Given the description of an element on the screen output the (x, y) to click on. 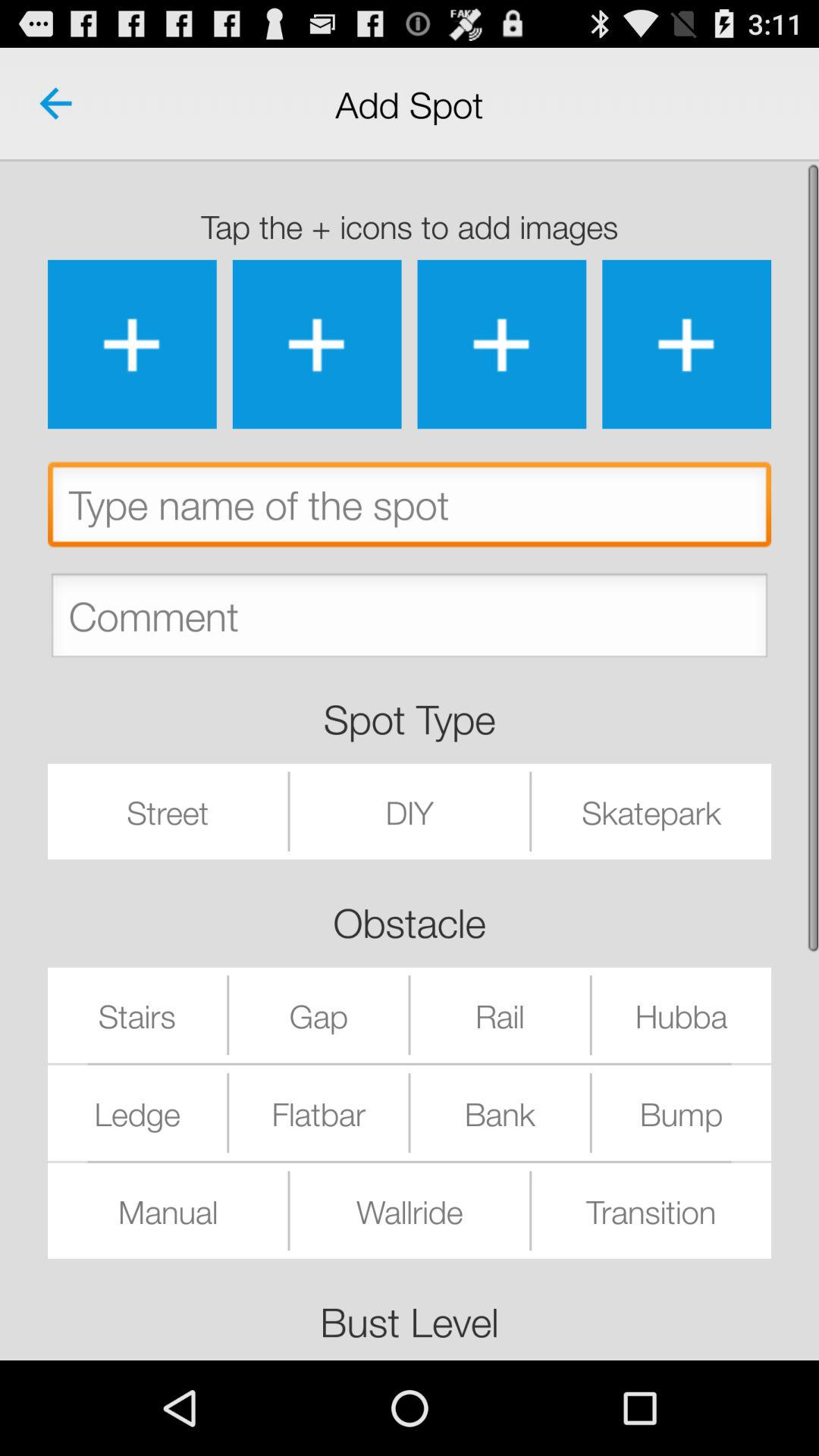
upload image (686, 343)
